Given the description of an element on the screen output the (x, y) to click on. 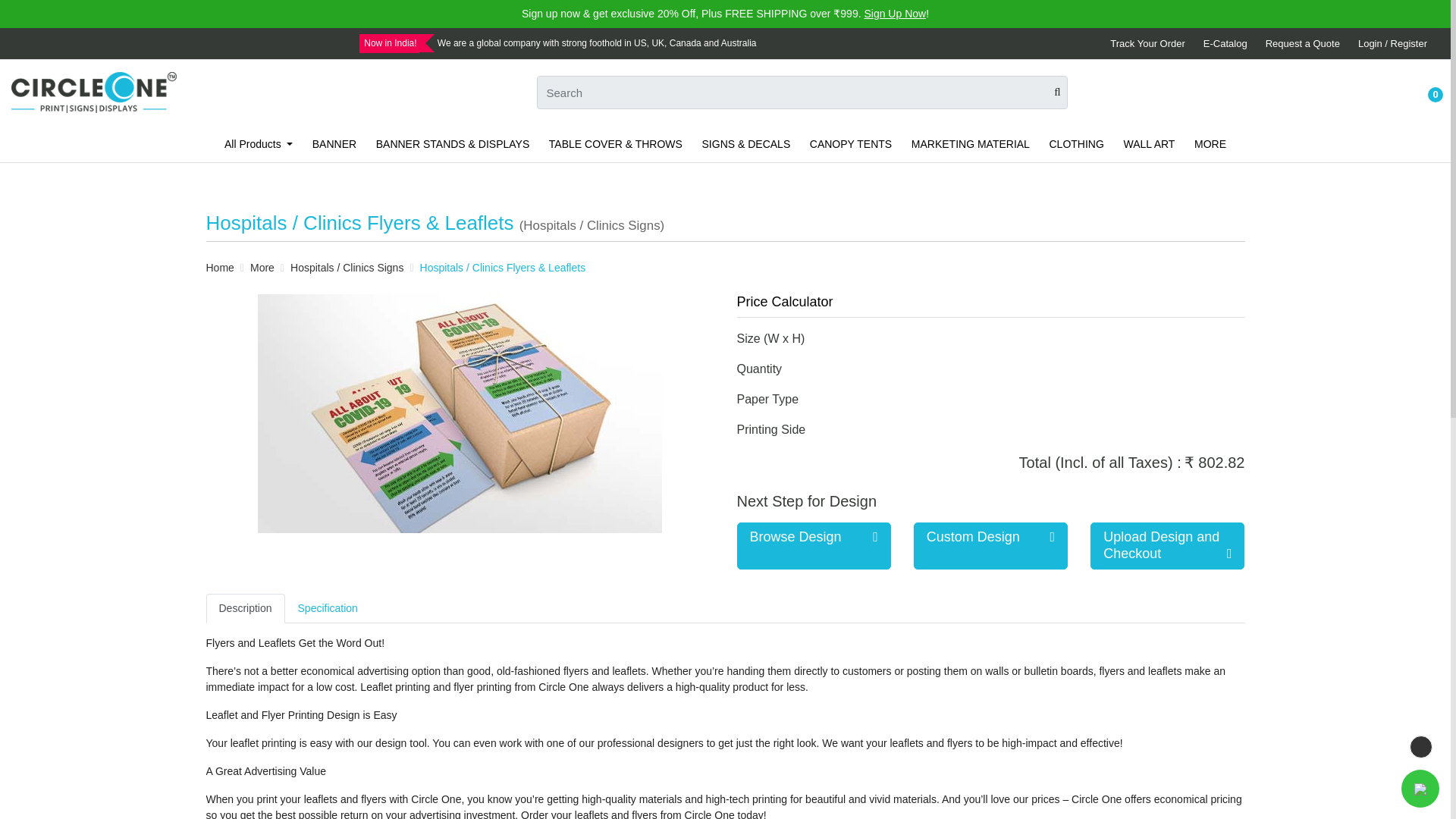
E-Catalog (1224, 43)
Sign Up Now (894, 13)
All Products (258, 143)
Track Your Order (1147, 43)
Request a Quote (1302, 43)
